Given the description of an element on the screen output the (x, y) to click on. 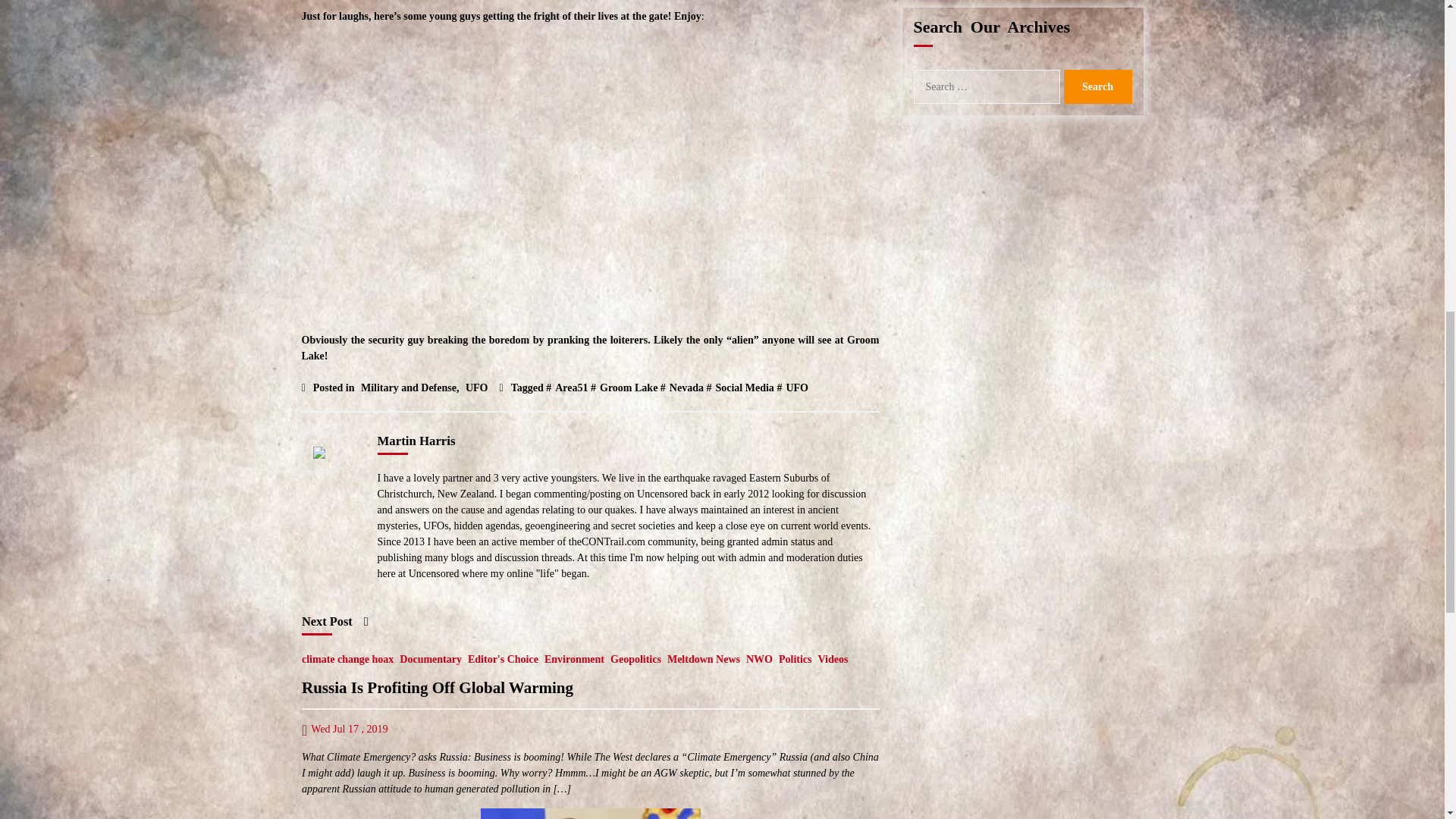
Search (1096, 86)
Area 51 Alien Sighting 2016 (589, 175)
Search (1096, 86)
